Given the description of an element on the screen output the (x, y) to click on. 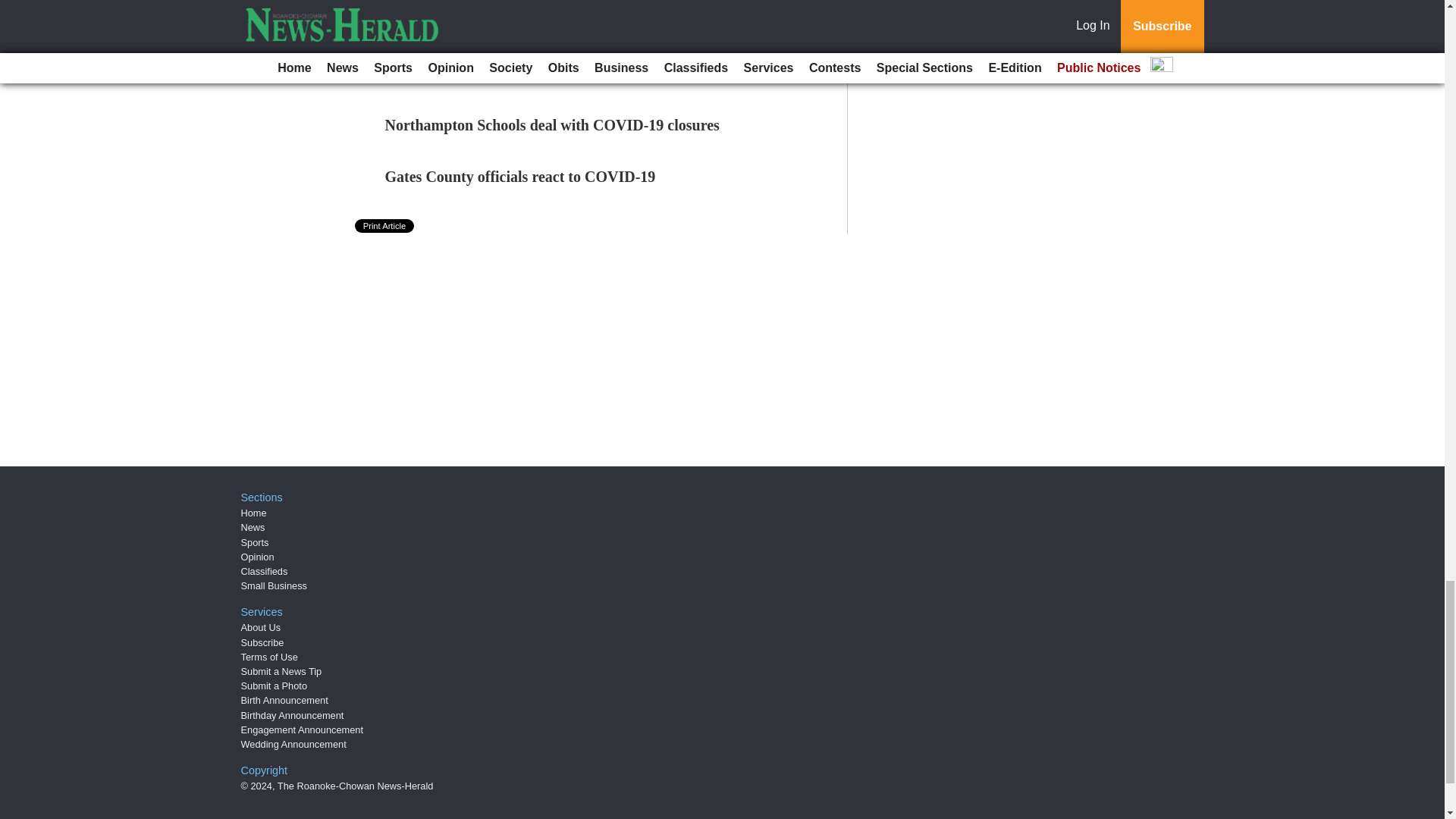
HCPS devises plans for meals and instruction during closure (495, 8)
HCPS devises plans for meals and instruction during closure (495, 8)
Northampton Schools deal with COVID-19 closures (552, 125)
Northampton Schools deal with COVID-19 closures (552, 125)
Gates County officials react to COVID-19 (520, 176)
